Given the description of an element on the screen output the (x, y) to click on. 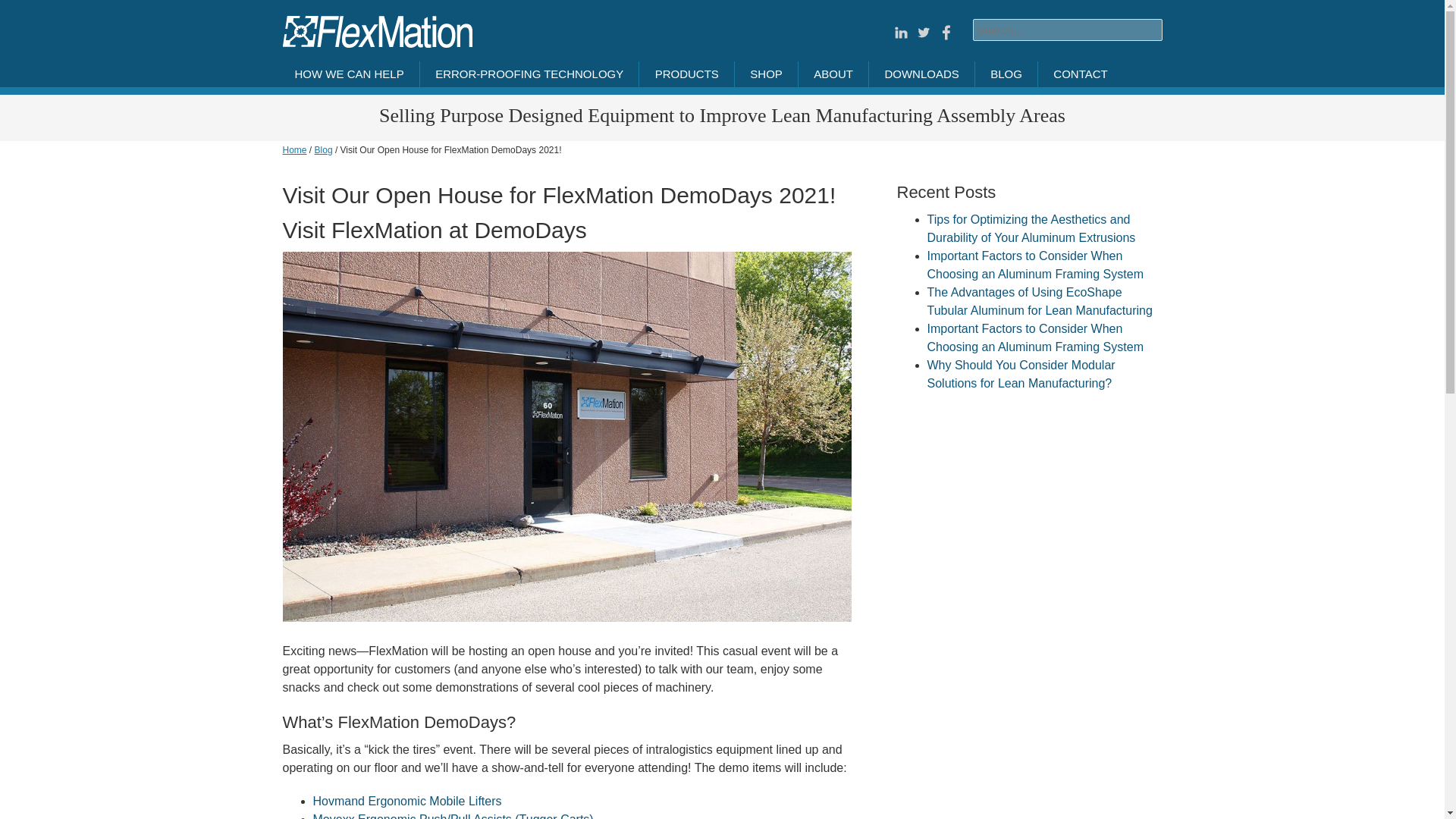
HOW WE CAN HELP (349, 73)
Search (94, 10)
PRODUCTS (687, 73)
ERROR-PROOFING TECHNOLOGY (529, 73)
